Given the description of an element on the screen output the (x, y) to click on. 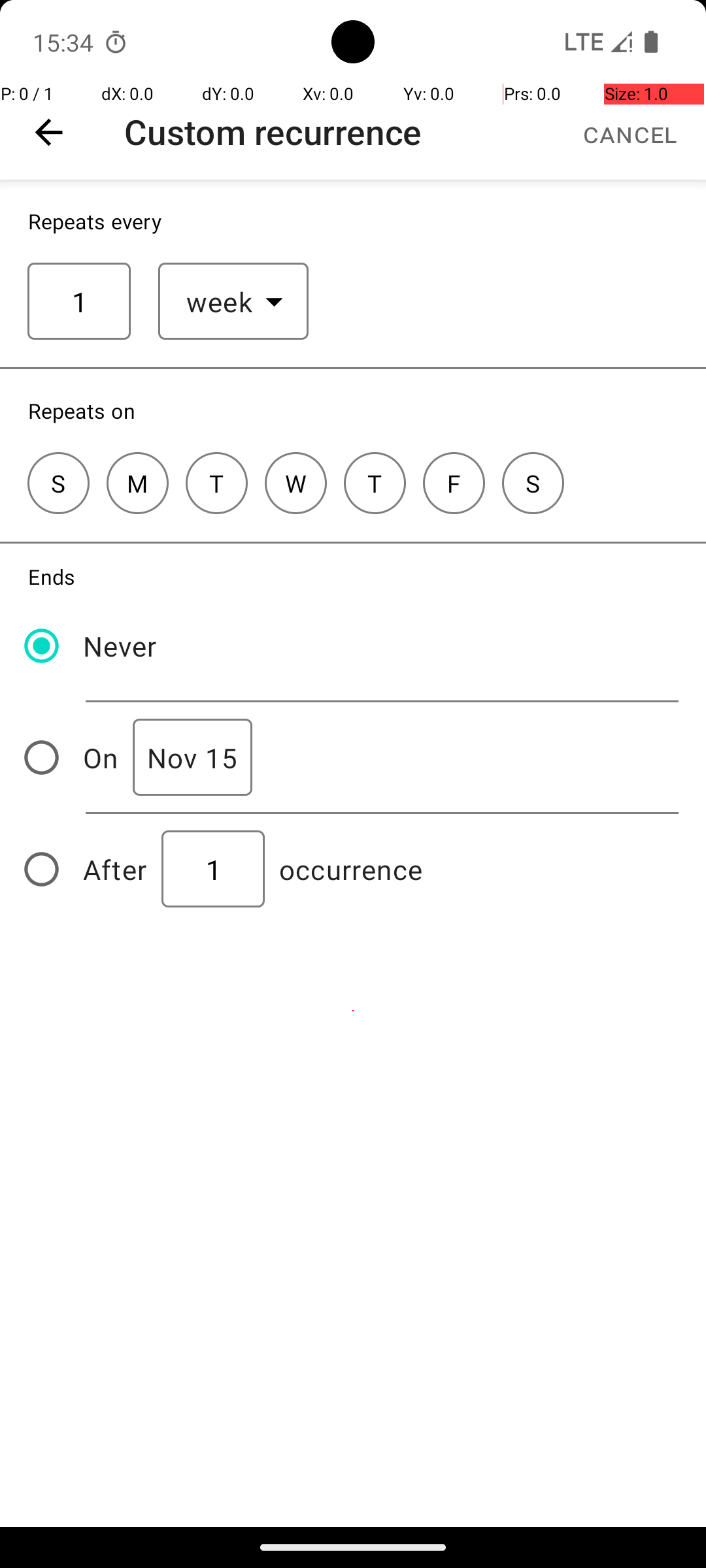
Repeats every Element type: android.widget.TextView (94, 221)
Repeats on Element type: android.widget.TextView (81, 410)
Ends Element type: android.widget.TextView (51, 576)
Custom recurrence Element type: android.widget.TextView (273, 131)
week Element type: android.widget.TextView (219, 301)
Never Element type: android.widget.TextView (120, 645)
After Element type: android.widget.TextView (114, 868)
occurrence Element type: android.widget.TextView (350, 868)
Nov 15 Element type: android.widget.TextView (192, 757)
